Given the description of an element on the screen output the (x, y) to click on. 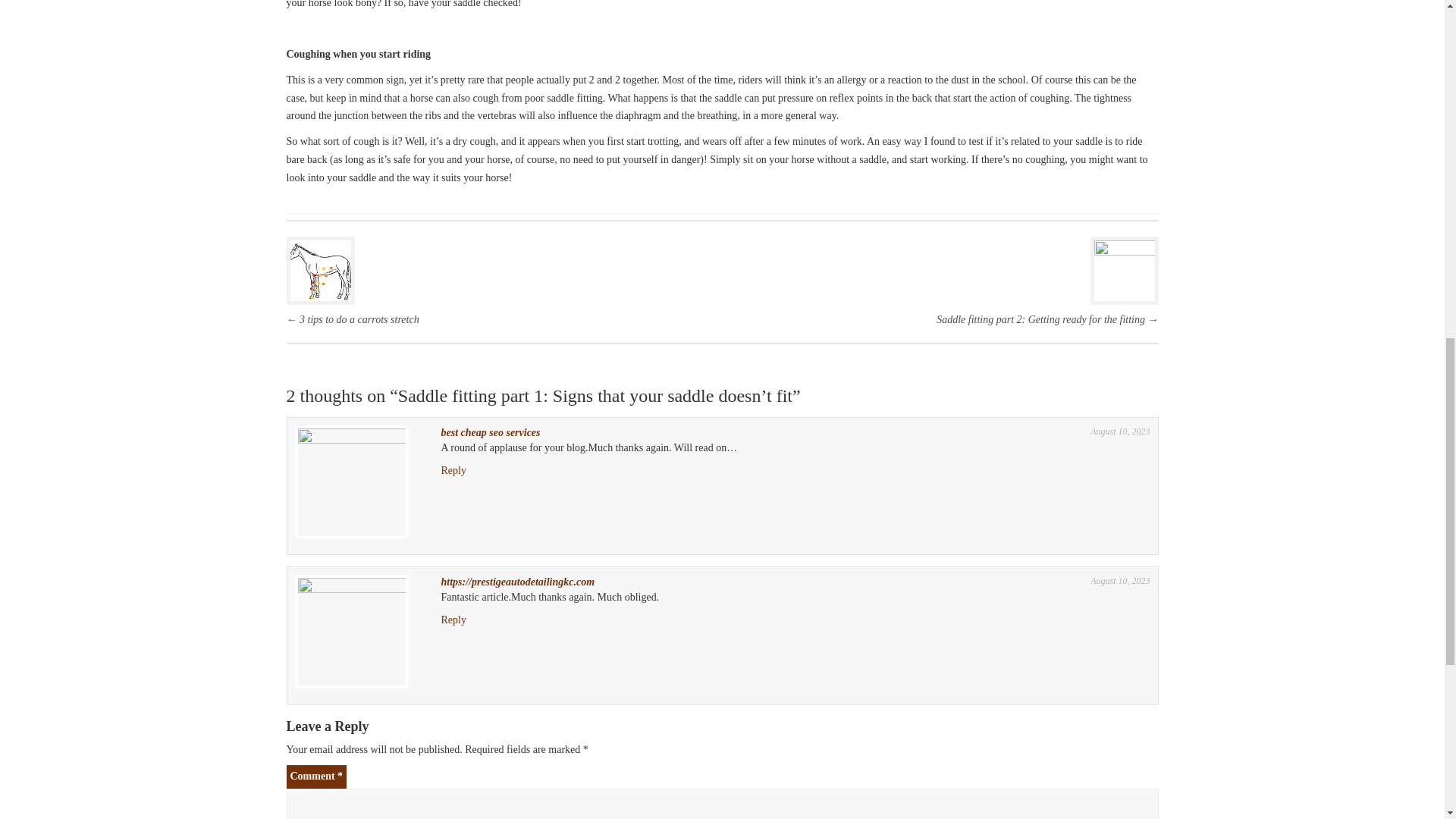
Reply (453, 619)
best cheap seo services (490, 432)
Reply (453, 470)
